Given the description of an element on the screen output the (x, y) to click on. 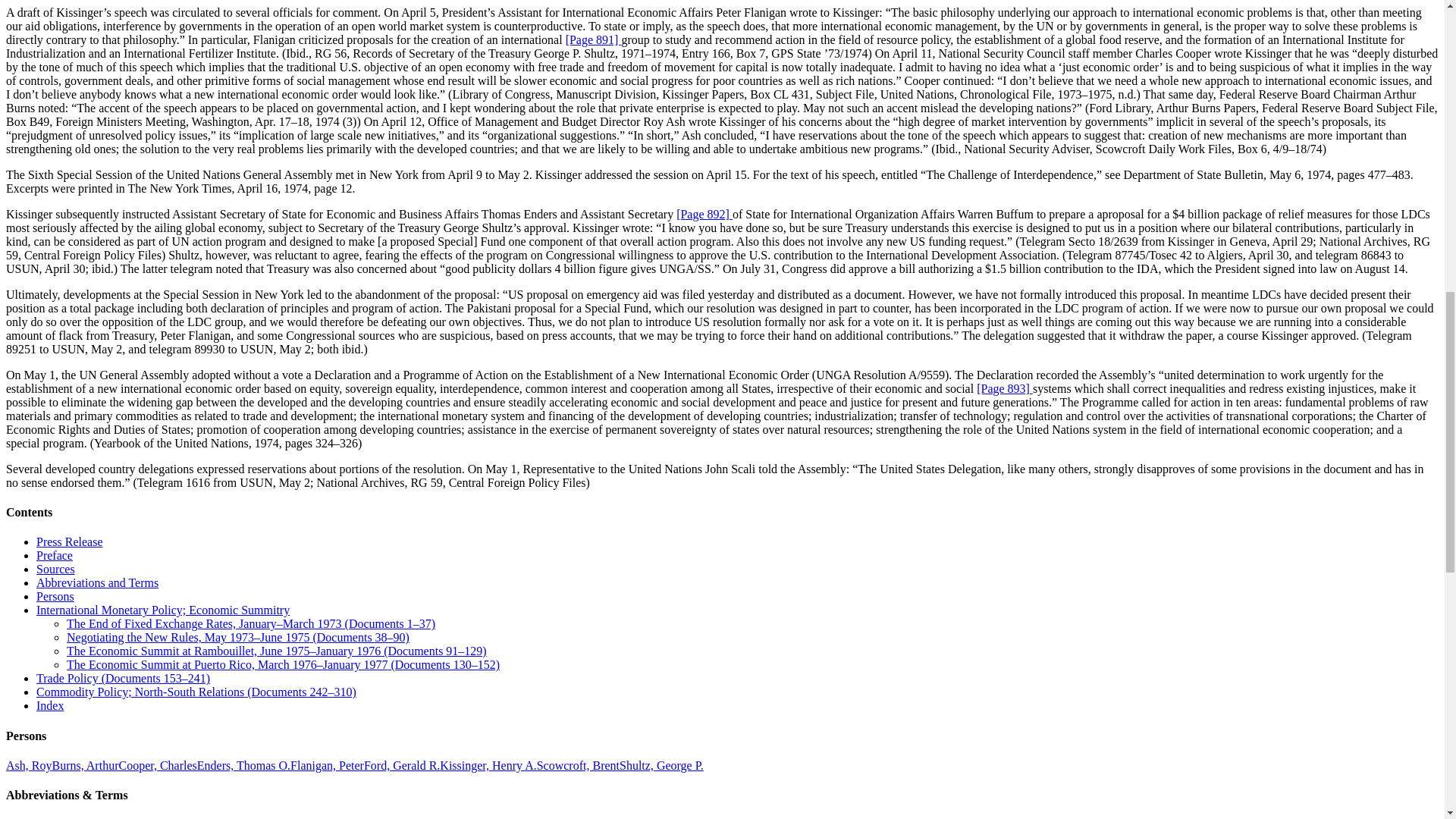
Secretary of the Treasury until May 1974 (661, 765)
Chairman, Board of Governors, Federal Reserve System (83, 765)
